Given the description of an element on the screen output the (x, y) to click on. 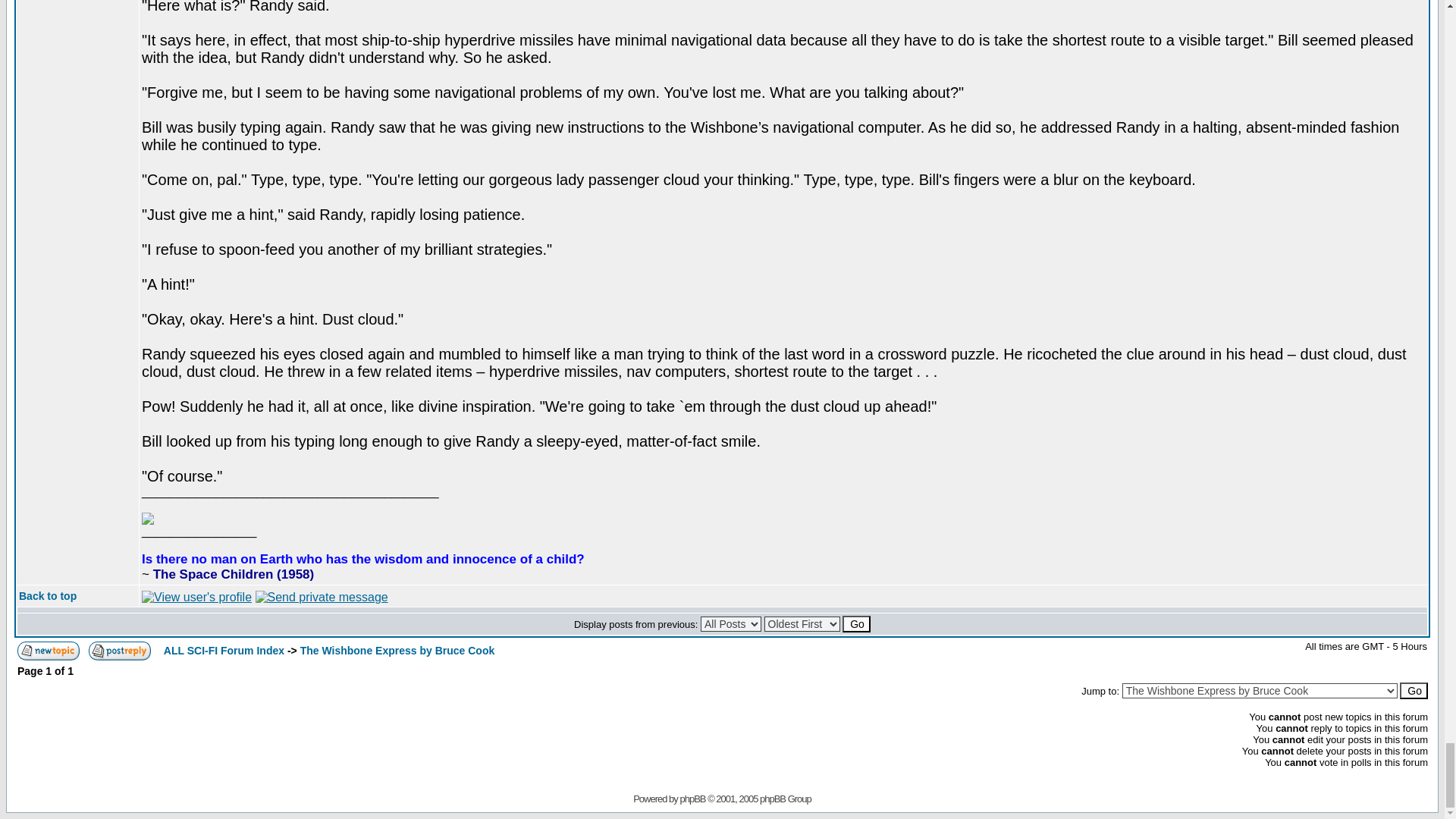
Go (1413, 690)
phpBB (691, 798)
Go (856, 623)
Go (1413, 690)
The Wishbone Express by Bruce Cook (397, 650)
ALL SCI-FI Forum Index (223, 650)
Back to top (47, 595)
Go (856, 623)
